Given the description of an element on the screen output the (x, y) to click on. 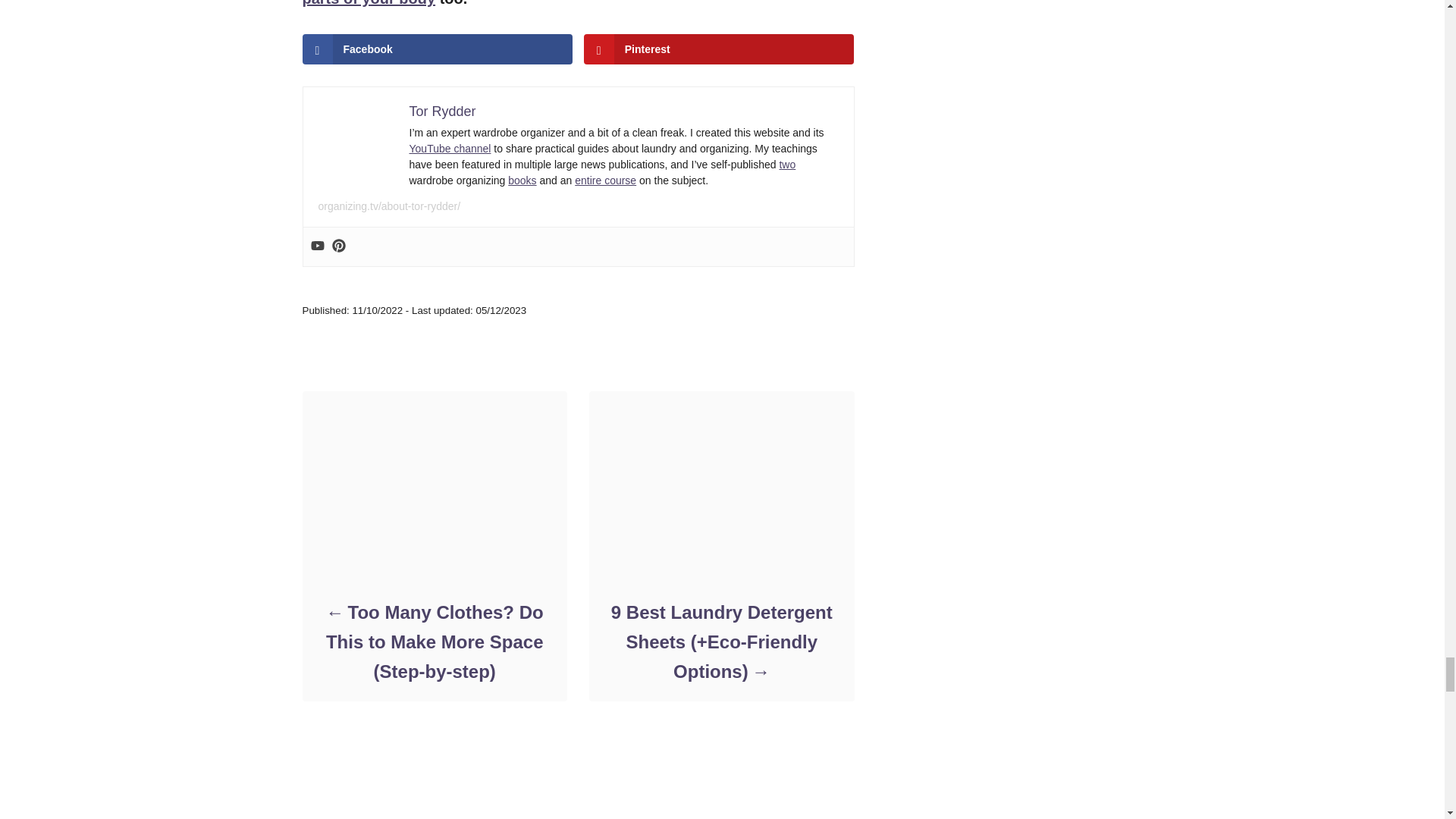
YouTube channel (450, 148)
how to hide other parts of your body (558, 3)
Tor Rydder (442, 111)
books (521, 180)
Pinterest (718, 49)
entire course (605, 180)
two (786, 164)
Facebook (436, 49)
